Given the description of an element on the screen output the (x, y) to click on. 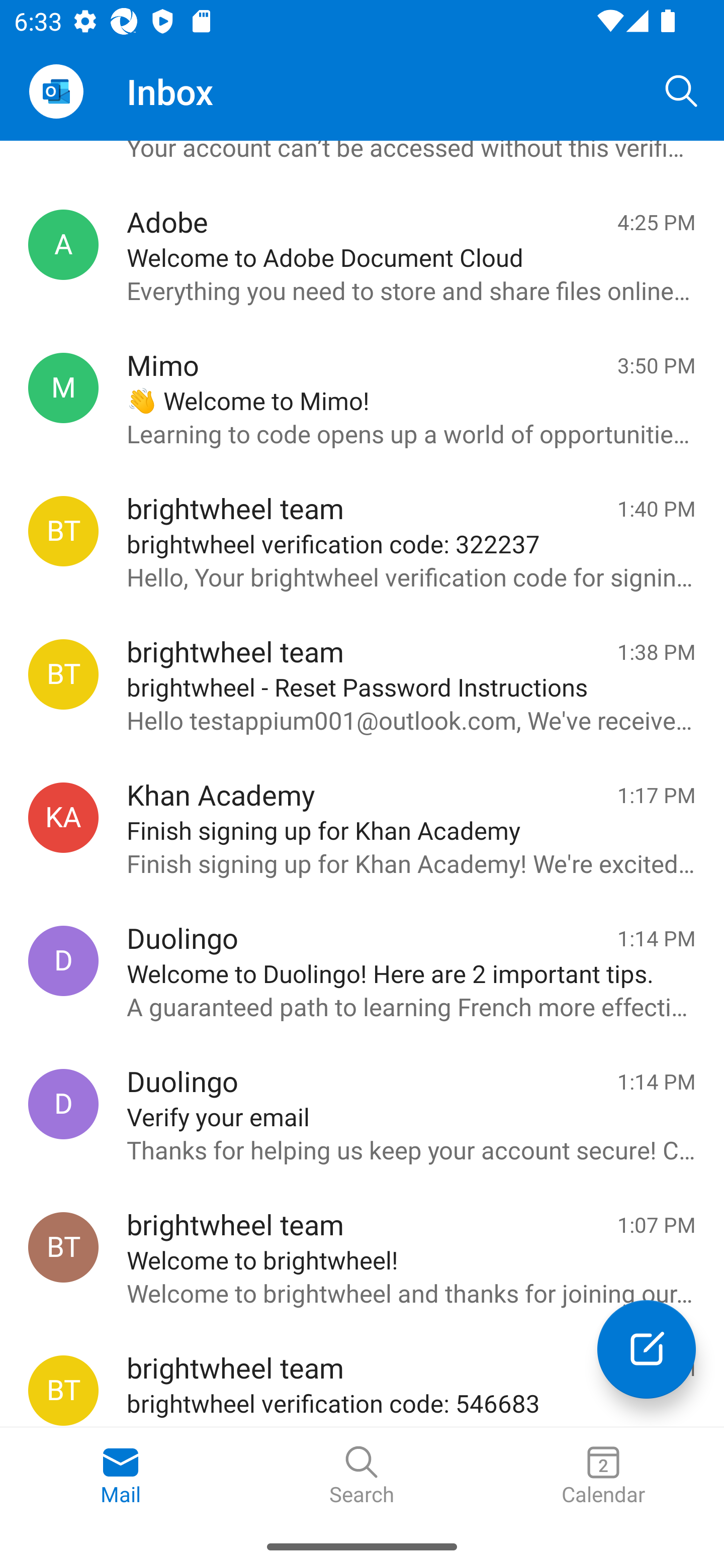
Search (681, 90)
Open Navigation Drawer (55, 91)
Adobe, message@adobe.com (63, 245)
Mimo, support@getmimo.com (63, 387)
brightwheel team, recovery@mybrightwheel.com (63, 530)
brightwheel team, recovery@mybrightwheel.com (63, 674)
Khan Academy, no-reply@khanacademy.org (63, 817)
Duolingo, hello@duolingo.com (63, 960)
Duolingo, hello@duolingo.com (63, 1104)
brightwheel team, welcome@mybrightwheel.com (63, 1247)
Compose (646, 1348)
brightwheel team, recovery@mybrightwheel.com (63, 1389)
Search (361, 1475)
Calendar (603, 1475)
